Given the description of an element on the screen output the (x, y) to click on. 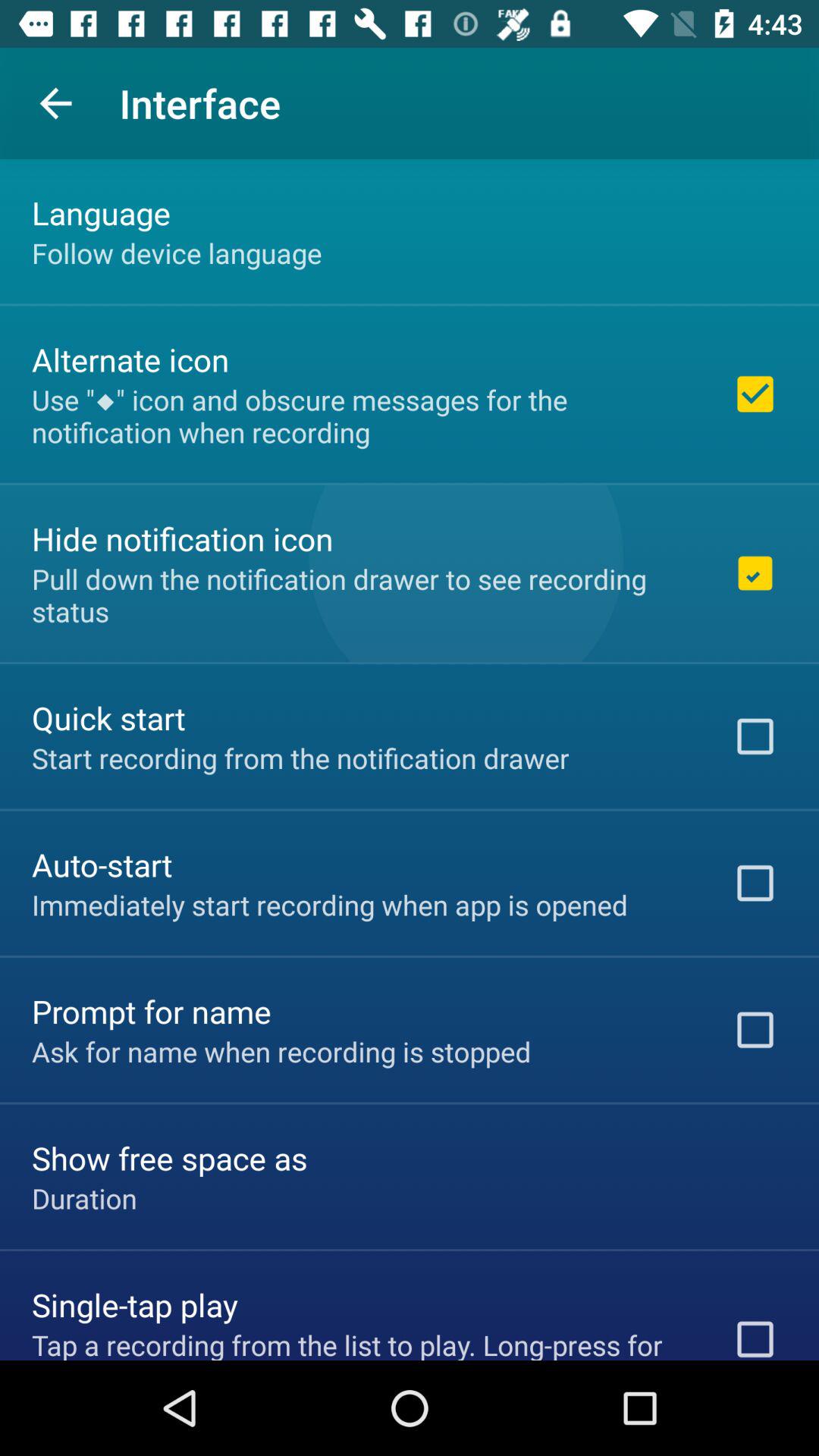
launch app next to interface icon (55, 103)
